Given the description of an element on the screen output the (x, y) to click on. 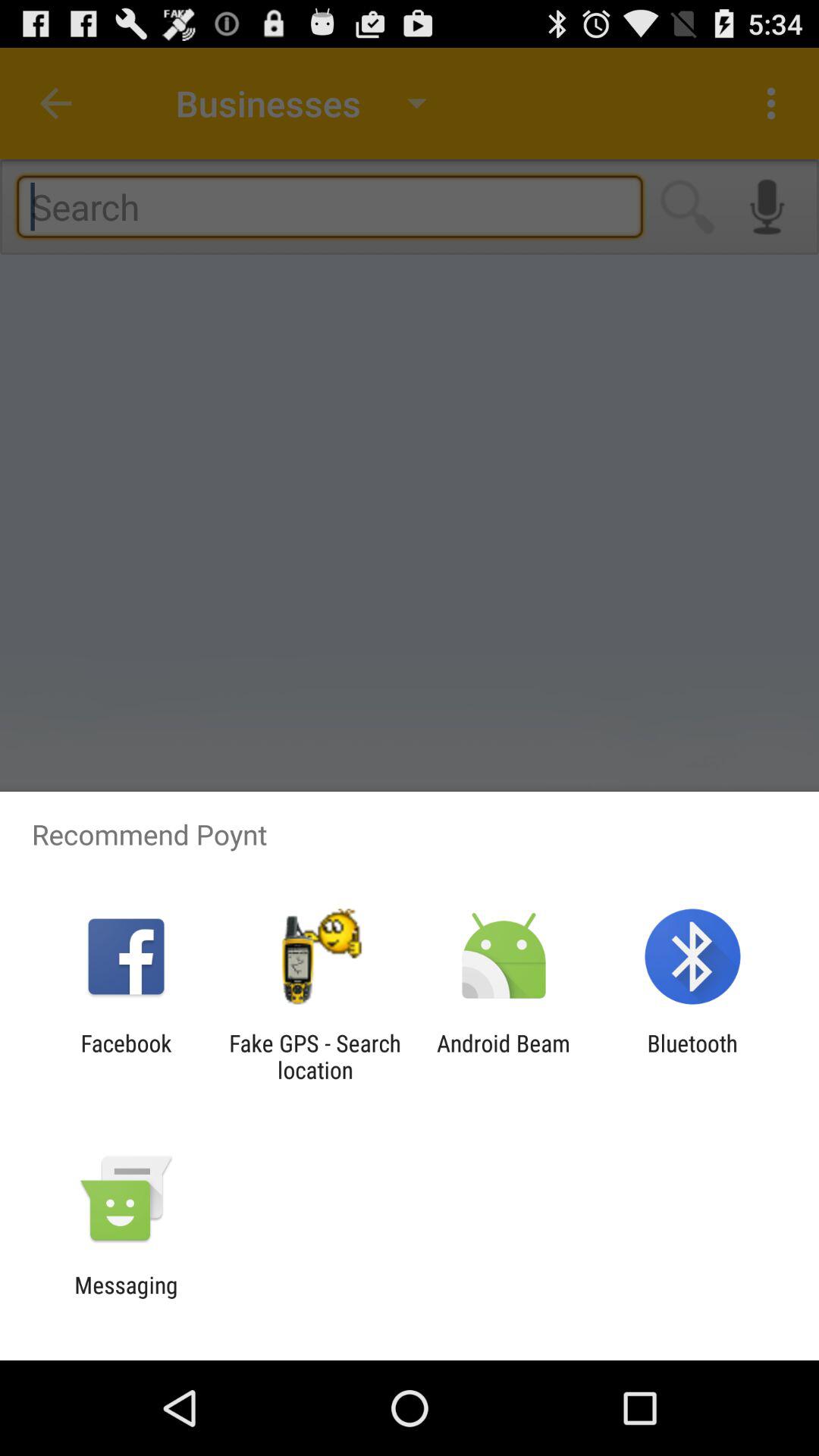
jump to android beam icon (503, 1056)
